Given the description of an element on the screen output the (x, y) to click on. 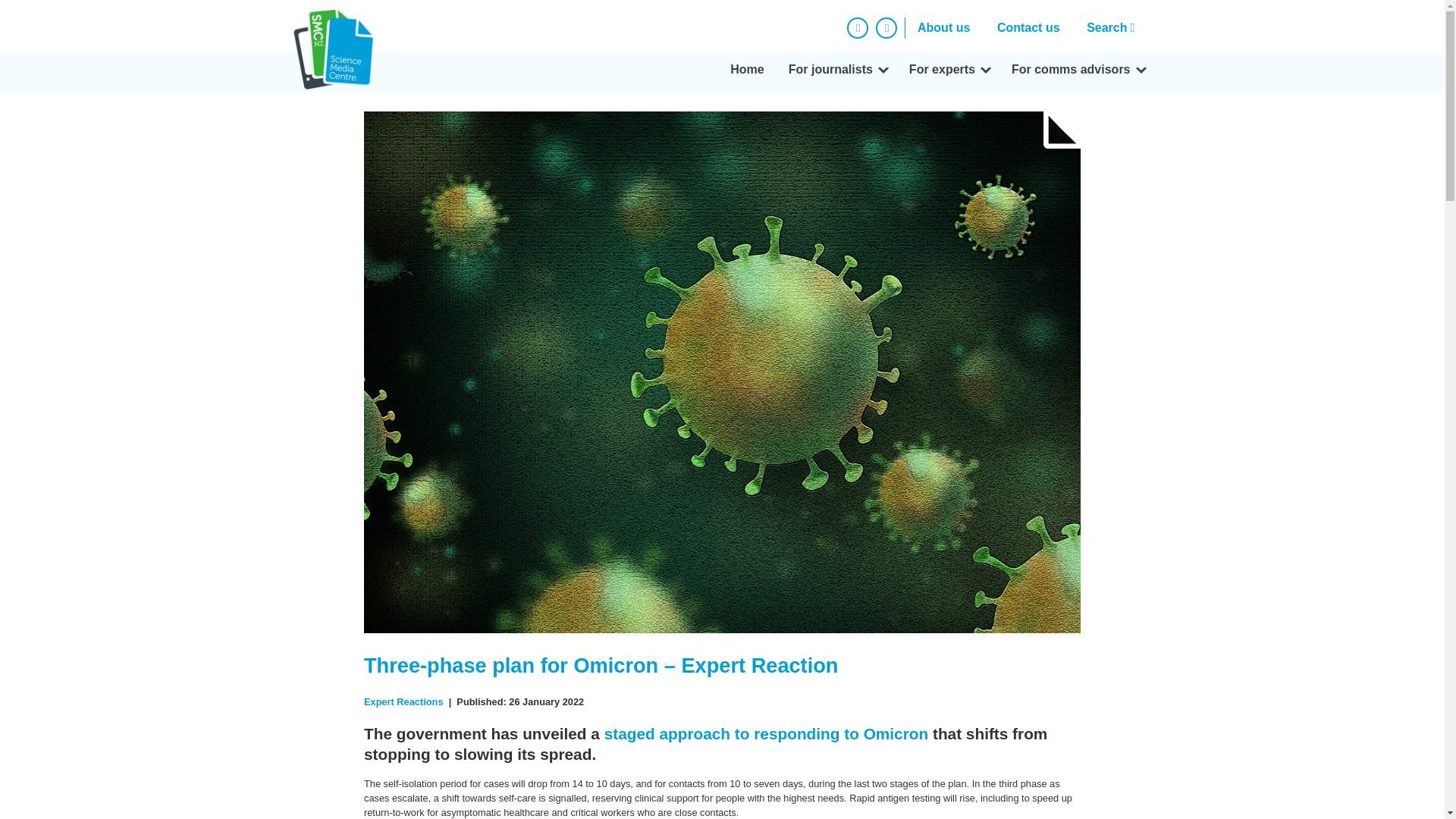
Contact us (1028, 27)
For comms advisors (1076, 71)
About us (943, 27)
Twitter (886, 27)
For journalists (836, 71)
Home (746, 71)
For experts (947, 71)
Facebook (857, 27)
Search (1114, 27)
